Given the description of an element on the screen output the (x, y) to click on. 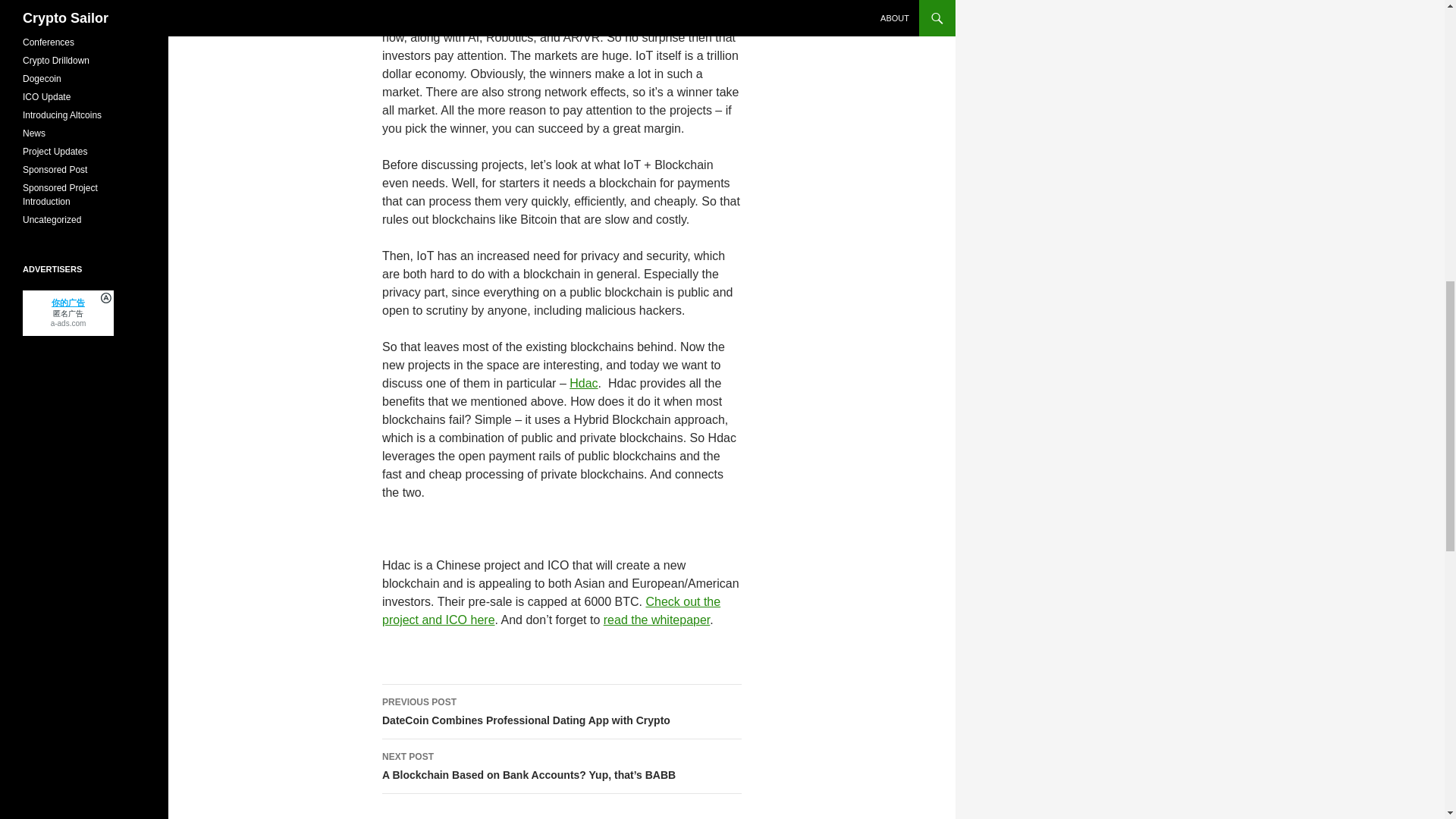
read the whitepaper (657, 619)
Hdac (582, 382)
Check out the project and ICO here (550, 610)
